Given the description of an element on the screen output the (x, y) to click on. 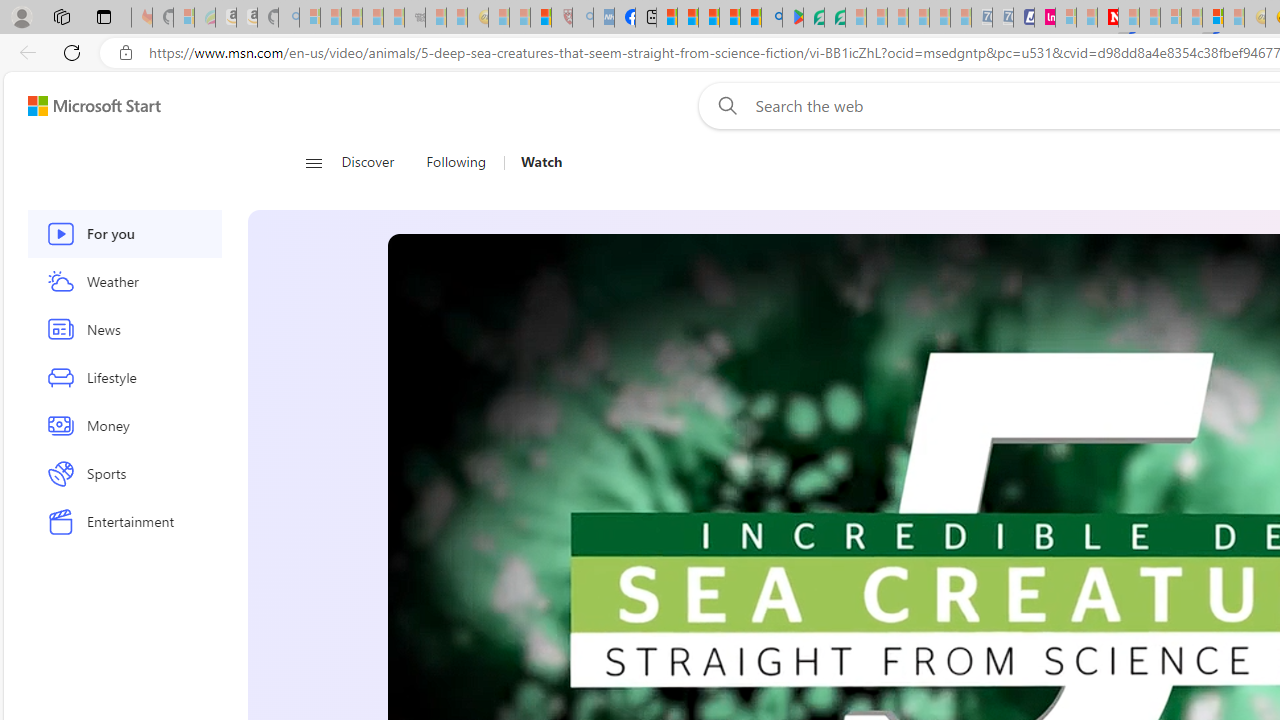
Pets - MSN (729, 17)
Skip to content (86, 105)
MSNBC - MSN (666, 17)
The Weather Channel - MSN - Sleeping (351, 17)
Trusted Community Engagement and Contributions | Guidelines (1128, 17)
14 Common Myths Debunked By Scientific Facts - Sleeping (1149, 17)
Web search (724, 105)
Local - MSN (541, 17)
